Given the description of an element on the screen output the (x, y) to click on. 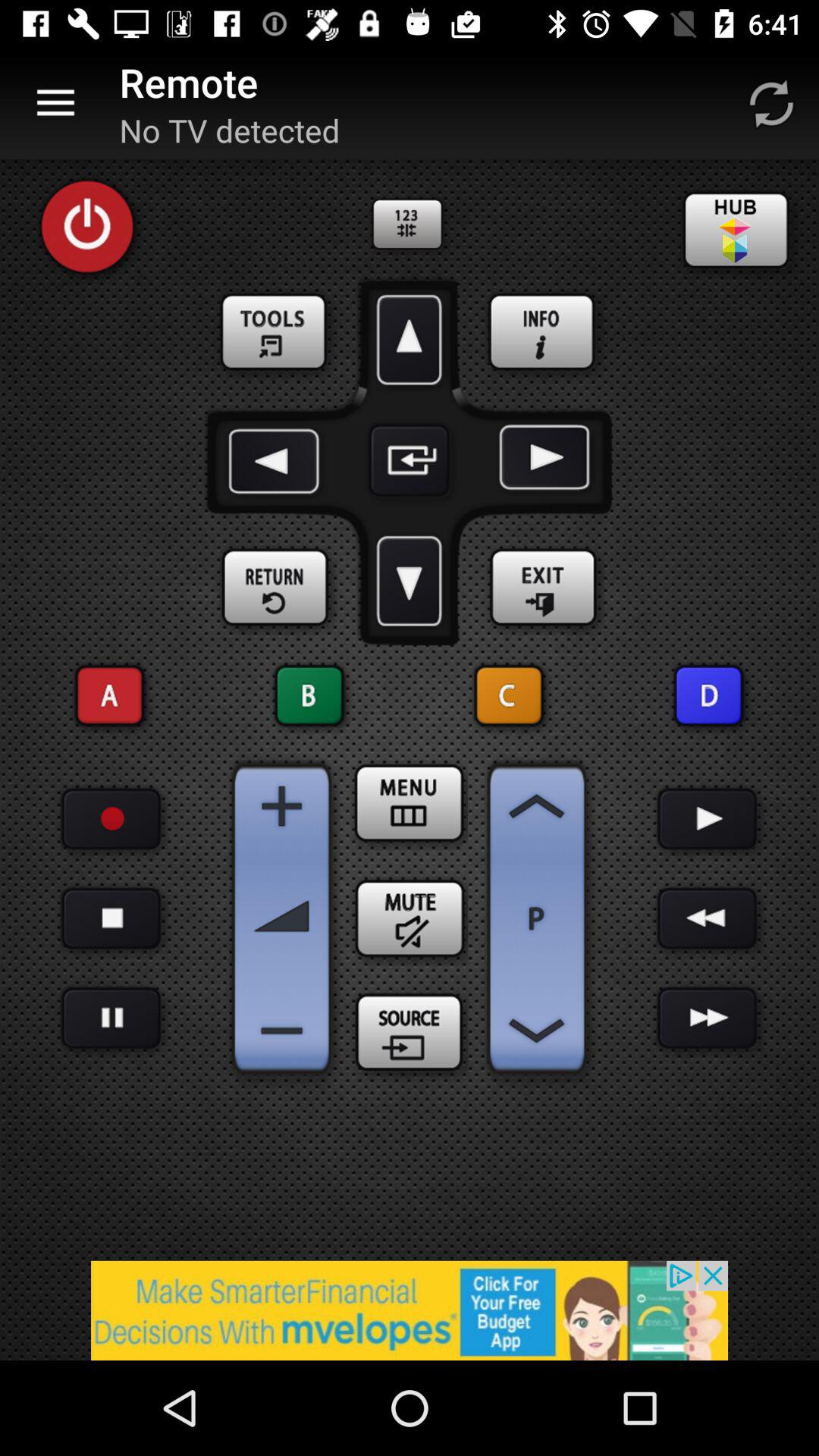
go rottate botten (771, 103)
